Given the description of an element on the screen output the (x, y) to click on. 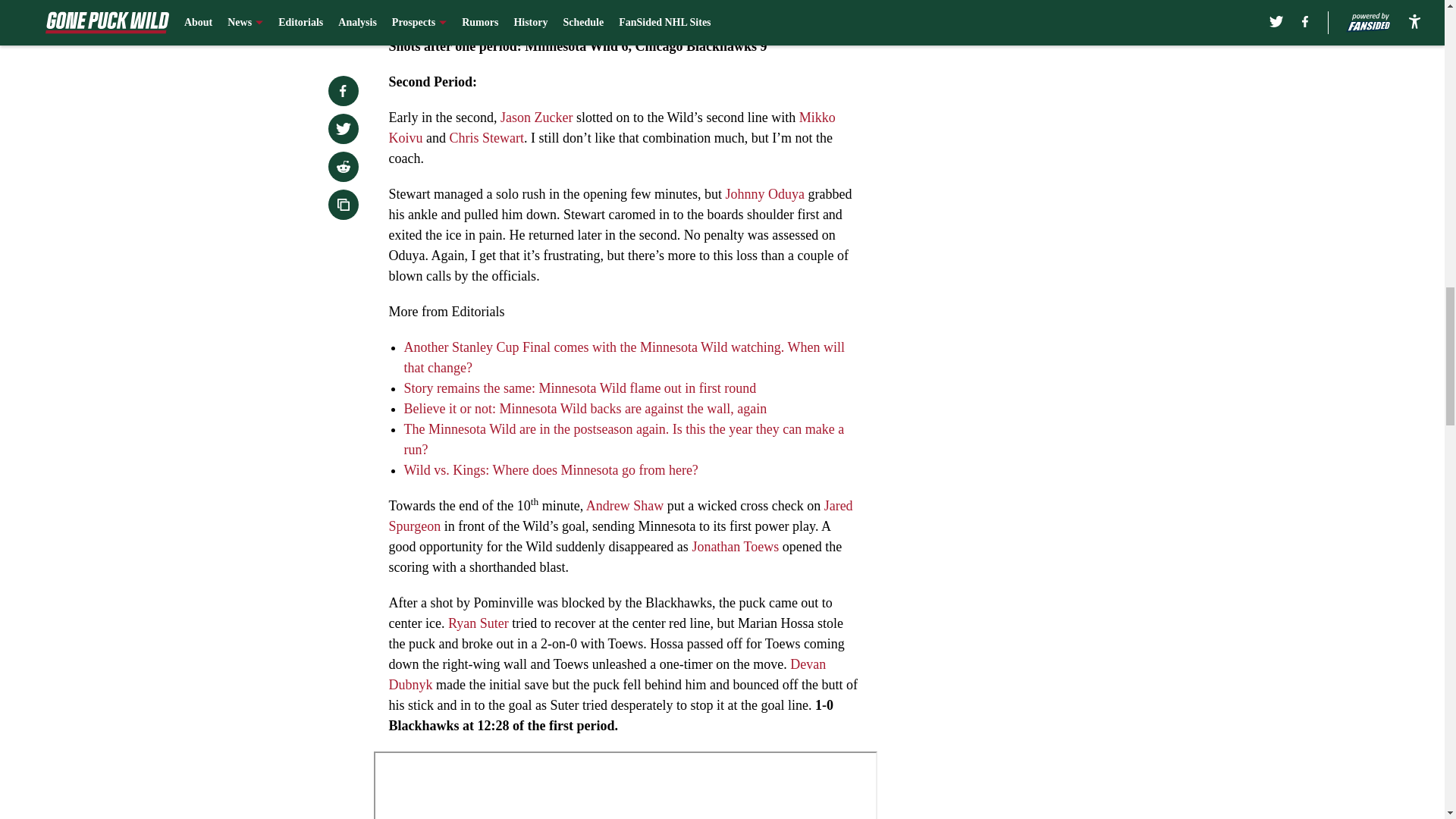
Johnny Oduya (765, 193)
Chris Stewart (486, 137)
Jason Zucker (536, 117)
Mikko Koivu (611, 127)
